Given the description of an element on the screen output the (x, y) to click on. 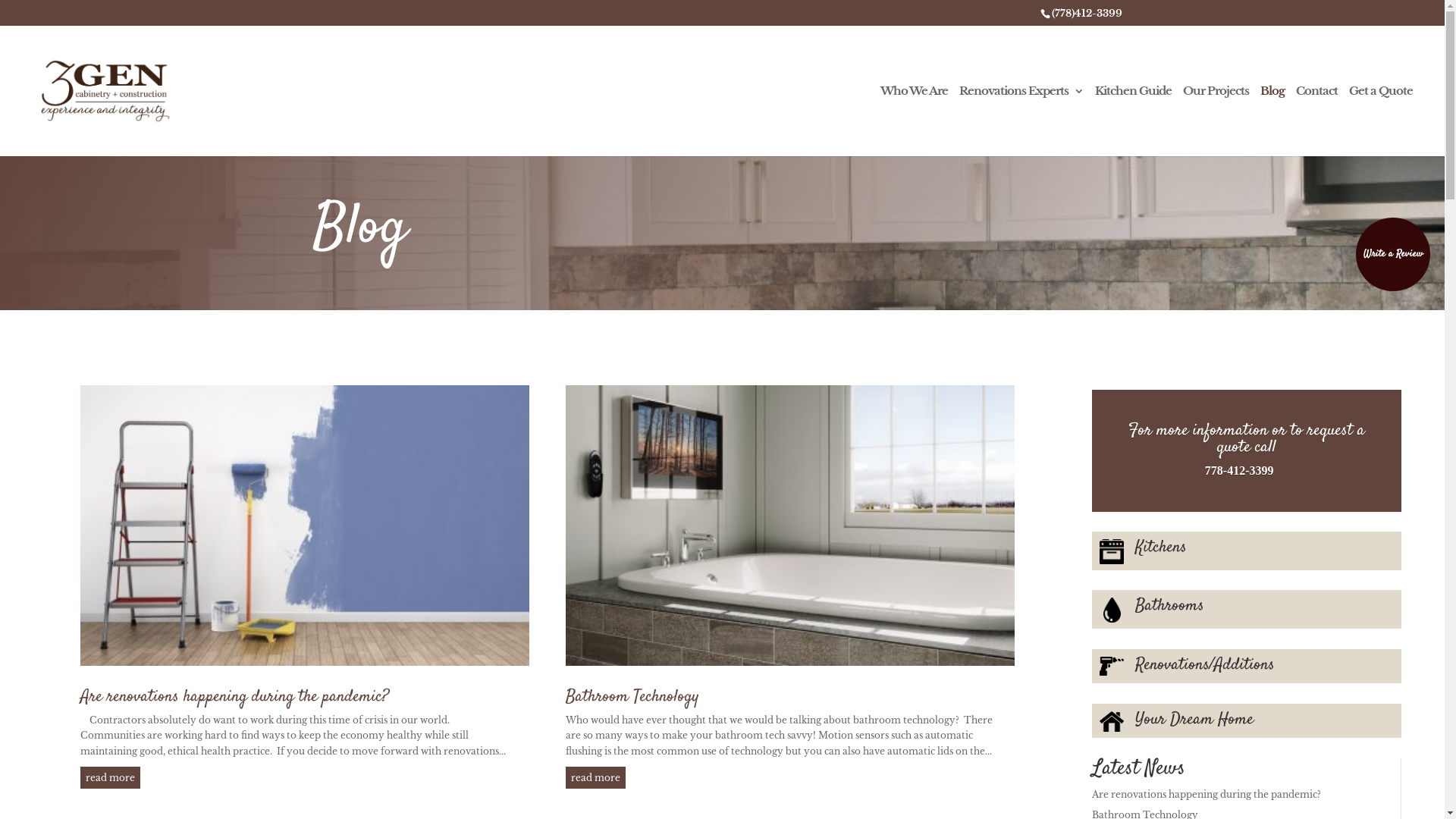
Renovations Experts Element type: text (1021, 119)
Contact Element type: text (1316, 119)
Who We Are Element type: text (913, 119)
Bathrooms Element type: text (1169, 605)
read more Element type: text (595, 777)
Blog Element type: text (1272, 119)
Kitchens Element type: text (1160, 547)
Are renovations happening during the pandemic? Element type: text (234, 696)
Bathroom Technology Element type: text (632, 696)
Kitchen Guide Element type: text (1133, 119)
Your Dream Home Element type: text (1194, 719)
Renovations/Additions Element type: text (1204, 664)
Get a Quote Element type: text (1380, 119)
Write a Review Element type: text (1392, 254)
Our Projects Element type: text (1215, 119)
read more Element type: text (110, 777)
Are renovations happening during the pandemic? Element type: text (1206, 794)
